Given the description of an element on the screen output the (x, y) to click on. 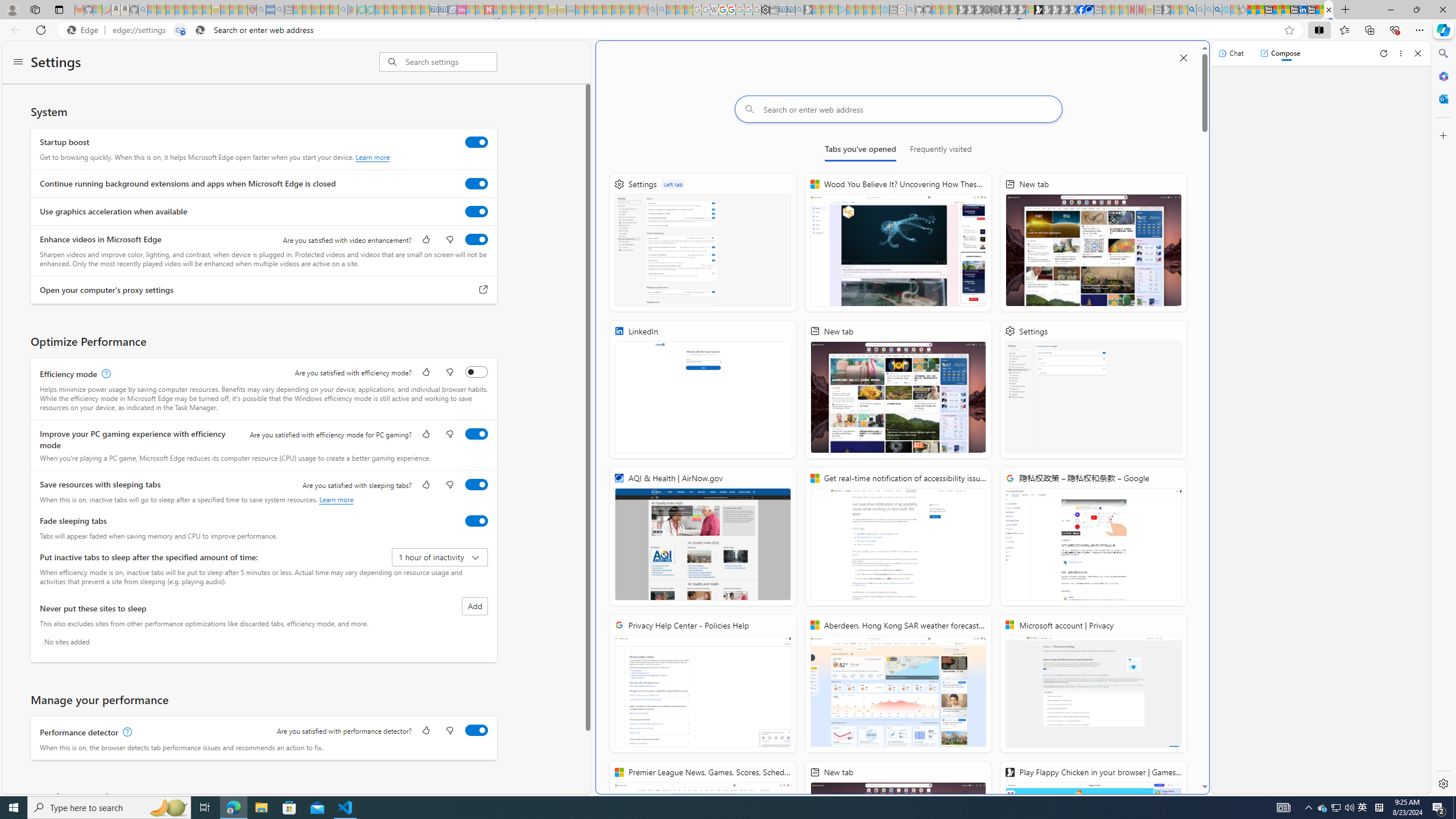
Performance detector, learn more (126, 732)
Edge (84, 29)
Bing AI - Search (1191, 9)
Aberdeen, Hong Kong SAR weather forecast | Microsoft Weather (898, 683)
